Given the description of an element on the screen output the (x, y) to click on. 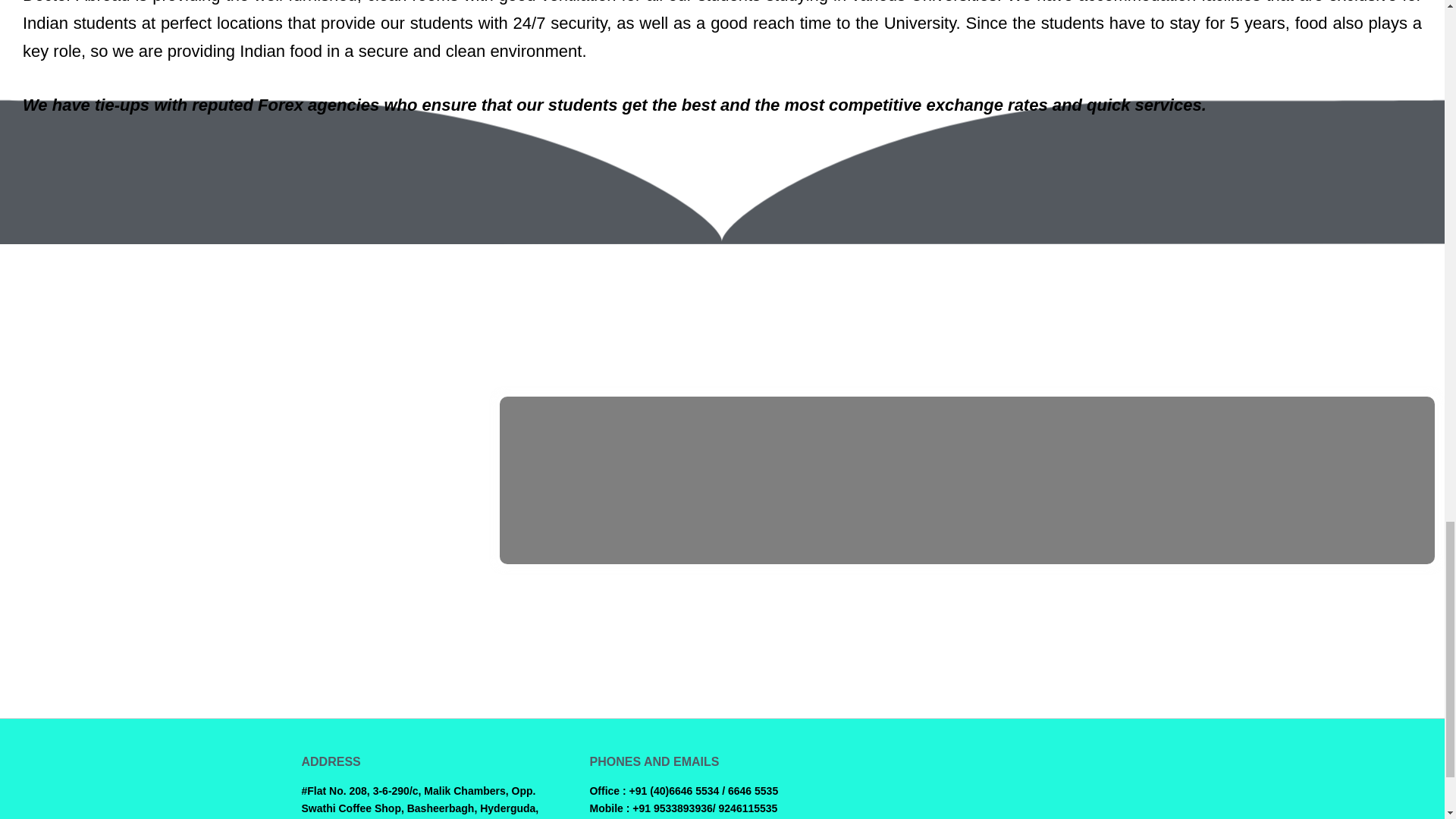
Facebook (1028, 769)
Twitter (1061, 769)
YouTube (1127, 769)
Instagram (1094, 769)
